Given the description of an element on the screen output the (x, y) to click on. 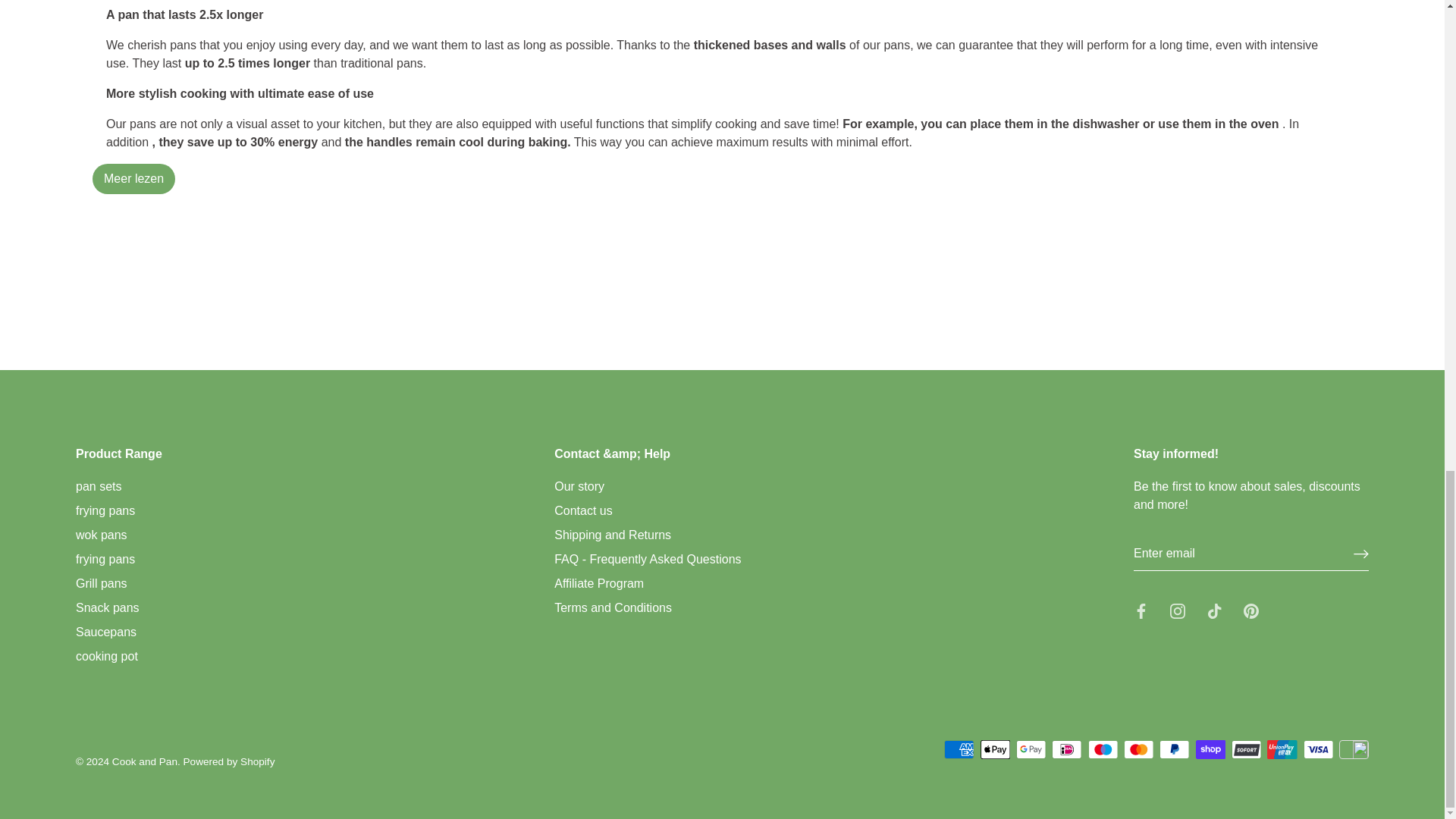
PayPal (1173, 749)
Shop Pay (1210, 749)
SOFORT (1245, 749)
Google Pay (1031, 749)
Pinterest (1251, 611)
American Express (958, 749)
Union Pay (1281, 749)
Visa (1318, 749)
Maestro (1102, 749)
Mastercard (1138, 749)
